Given the description of an element on the screen output the (x, y) to click on. 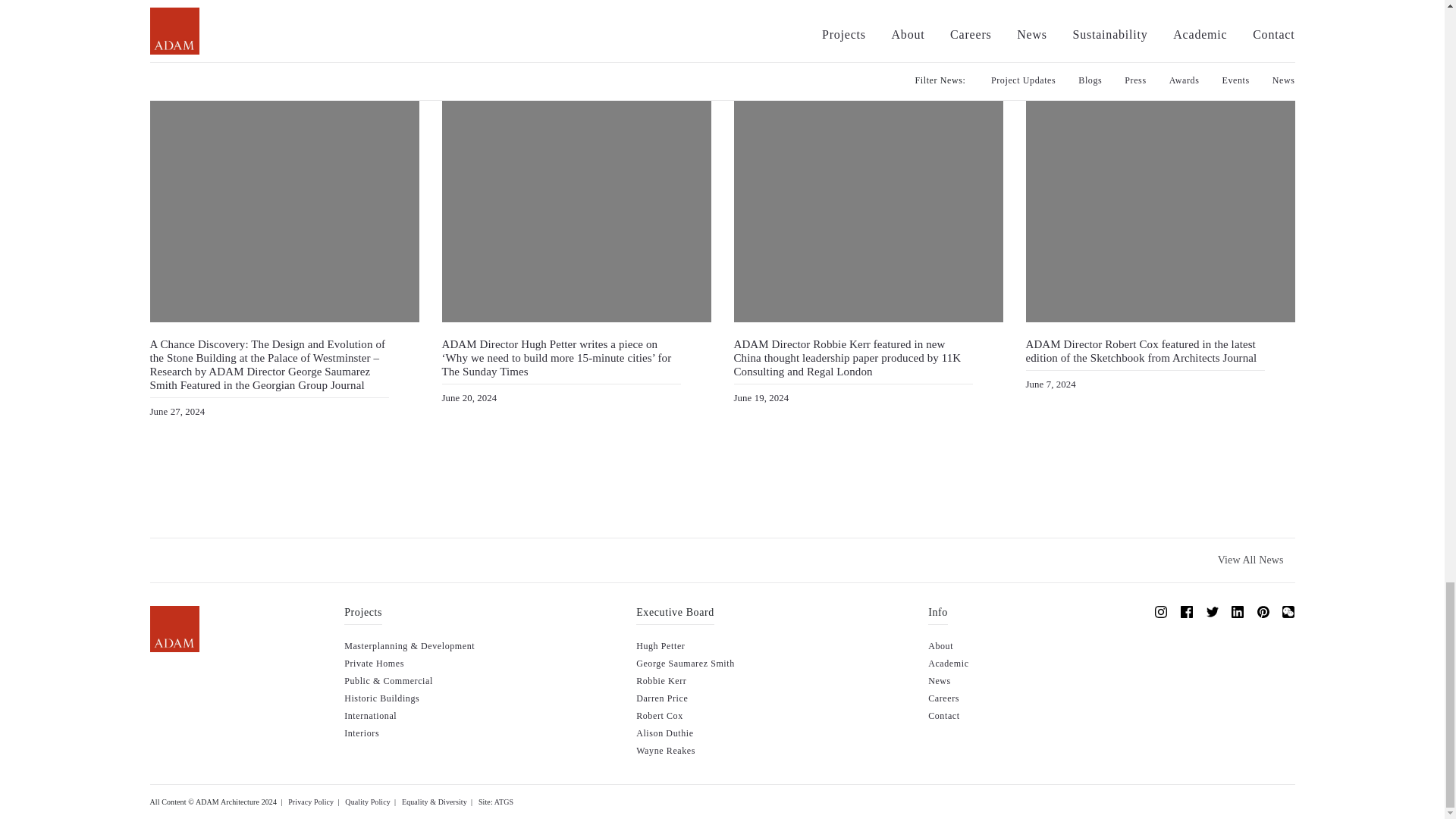
International (369, 715)
Robbie Kerr (660, 680)
Private Homes (373, 663)
Interiors (360, 733)
George Saumarez Smith (685, 663)
Alison Duthie (664, 733)
Historic Buildings (381, 697)
Darren Price (661, 697)
Hugh Petter (660, 645)
Wayne Reakes (665, 750)
Robert Cox (659, 715)
